Given the description of an element on the screen output the (x, y) to click on. 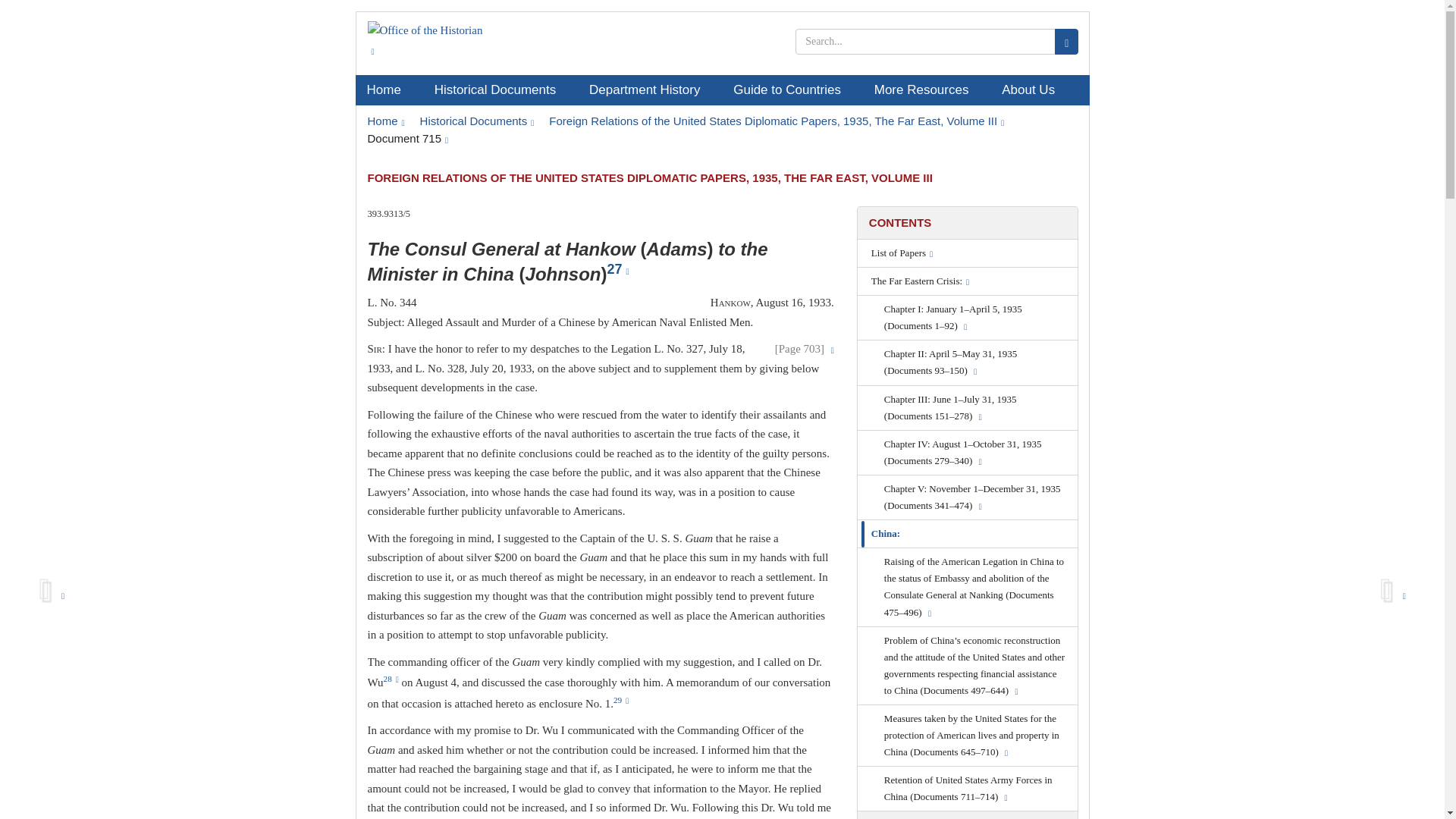
Historical Documents (500, 90)
Home (385, 120)
Document 715 (407, 137)
Department History (650, 90)
More Resources (926, 90)
Home (388, 90)
About Us (1033, 90)
Historical Documents (477, 120)
Guide to Countries (792, 90)
